Given the description of an element on the screen output the (x, y) to click on. 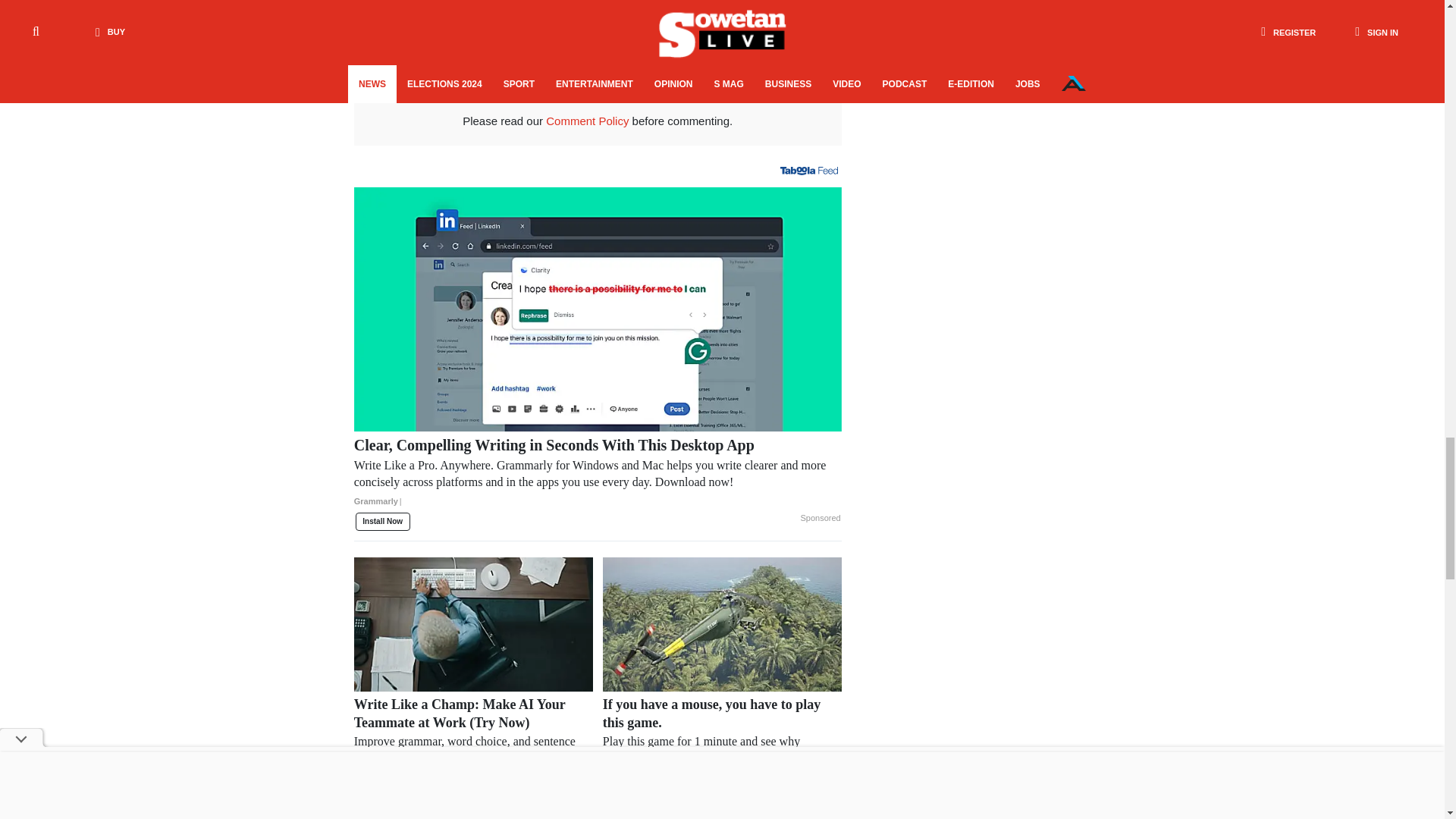
Clear, Compelling Writing in Seconds With This Desktop App (597, 478)
